Given the description of an element on the screen output the (x, y) to click on. 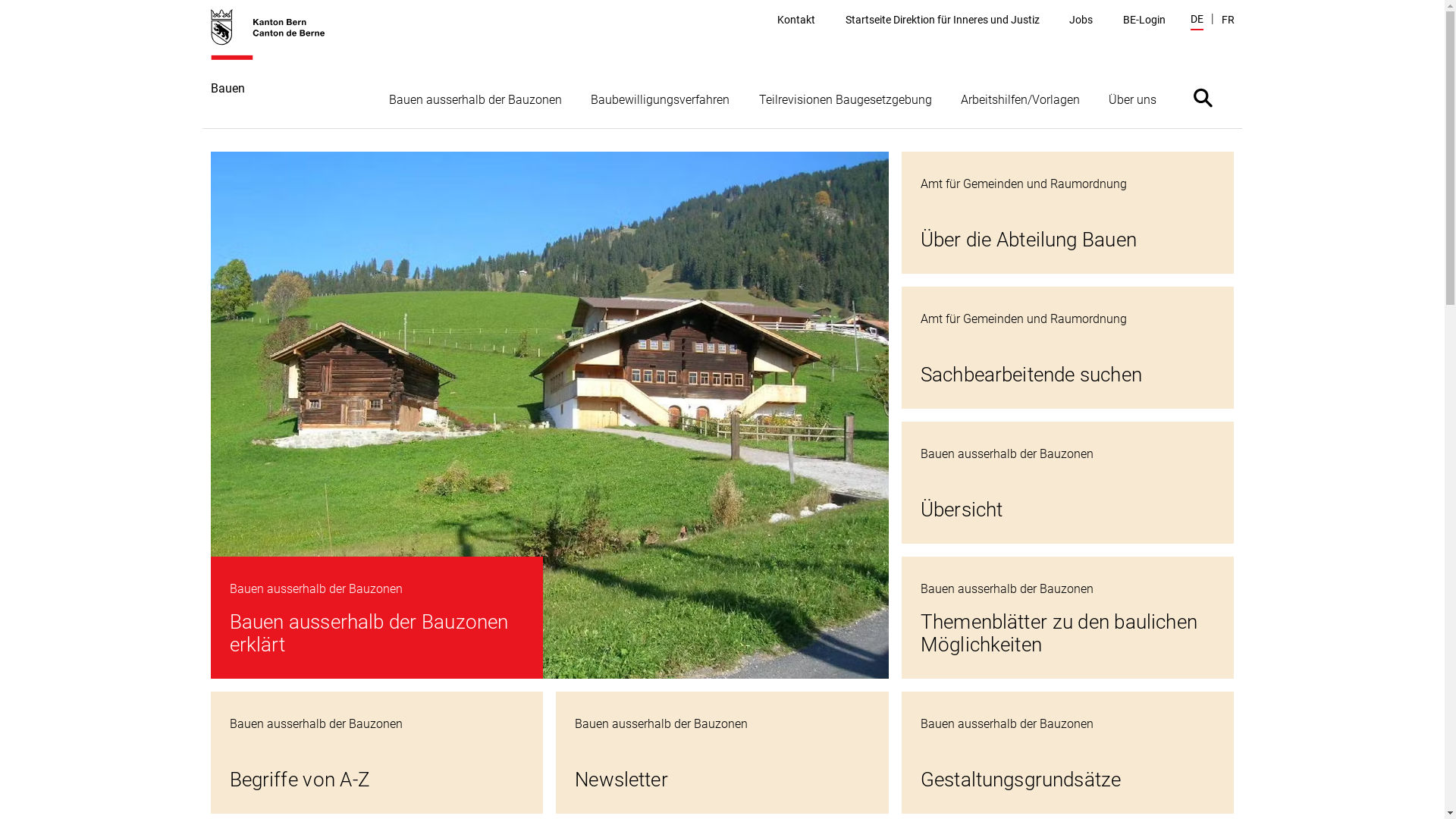
Newsletter
Bauen ausserhalb der Bauzonen Element type: text (721, 752)
Baubewilligungsverfahren Element type: text (659, 97)
Arbeitshilfen/Vorlagen Element type: text (1020, 97)
DE Element type: text (1196, 21)
Bauen ausserhalb der Bauzonen Element type: text (475, 97)
Teilrevisionen Baugesetzgebung Element type: text (844, 97)
Kontakt Element type: text (796, 19)
Suche ein- oder ausblenden Element type: text (1201, 96)
Jobs Element type: text (1080, 19)
Begriffe von A-Z
Bauen ausserhalb der Bauzonen Element type: text (376, 752)
Bauen Element type: text (275, 68)
BE-Login Element type: text (1144, 19)
FR Element type: text (1226, 19)
